Given the description of an element on the screen output the (x, y) to click on. 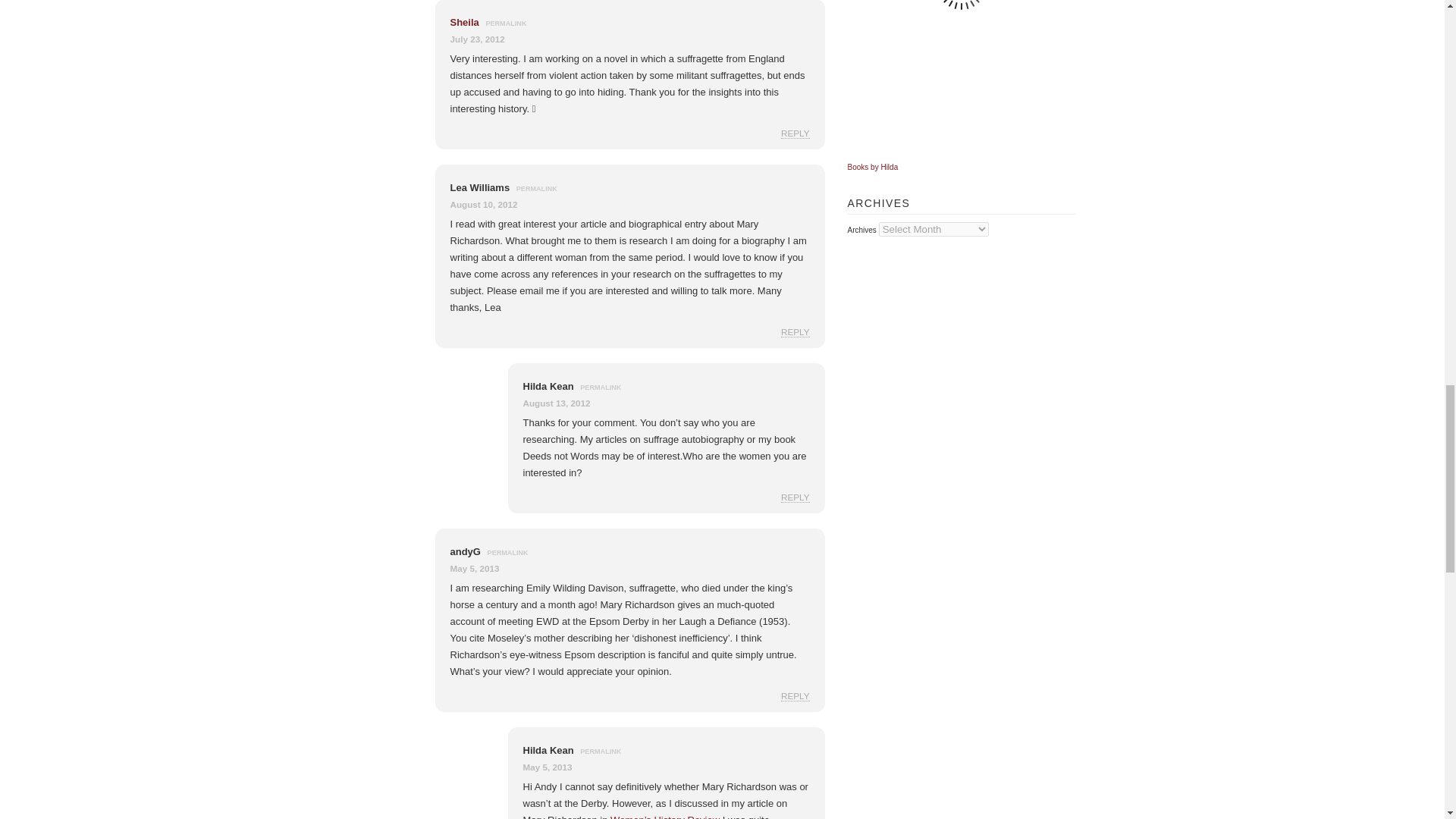
PERMALINK (536, 188)
REPLY (794, 497)
PERMALINK (600, 387)
REPLY (794, 696)
REPLY (794, 331)
PERMALINK (507, 552)
Sheila (464, 21)
REPLY (794, 132)
PERMALINK (504, 23)
